Given the description of an element on the screen output the (x, y) to click on. 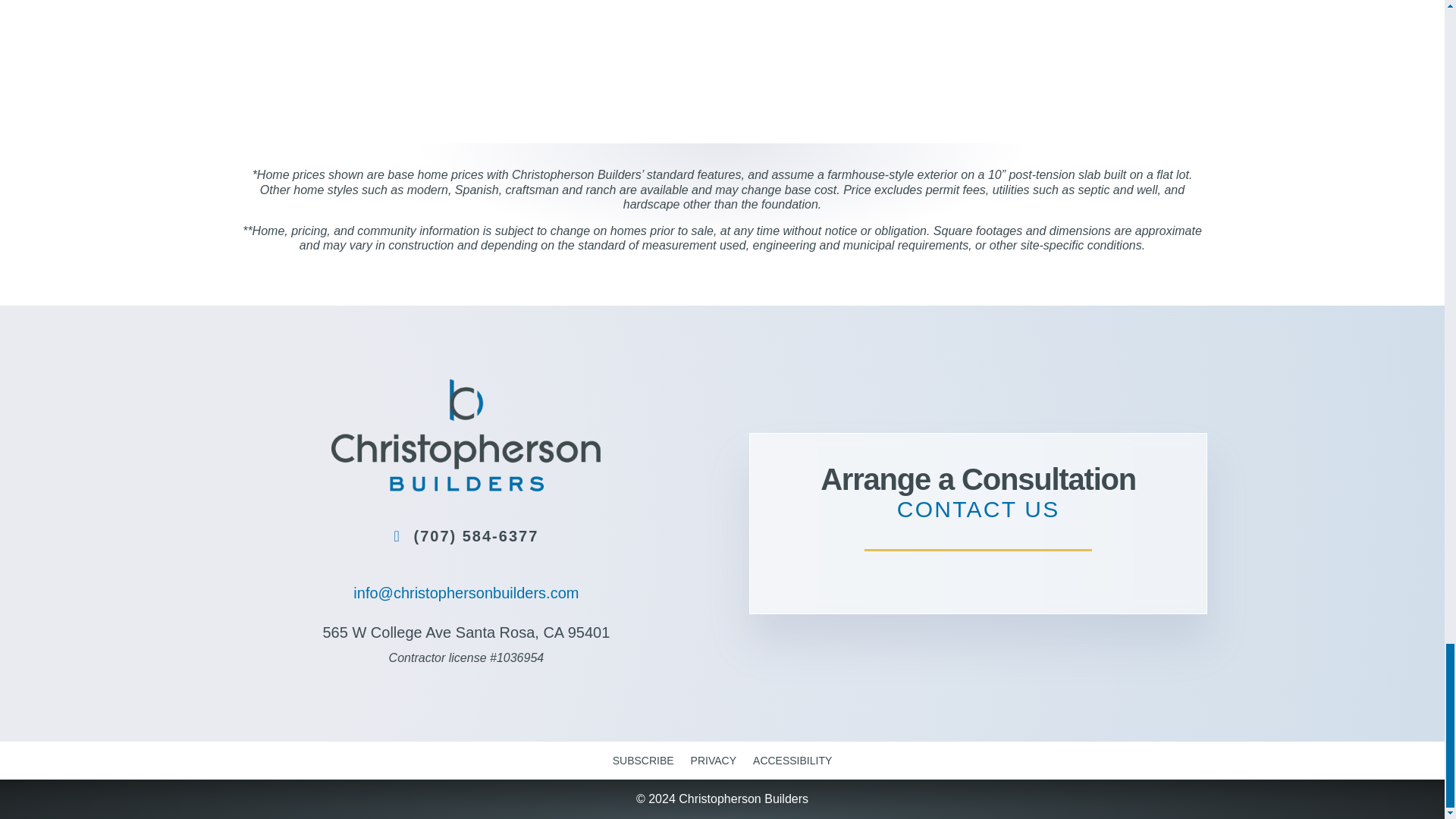
PRIVACY (713, 757)
SUBSCRIBE (643, 757)
ACCESSIBILITY (791, 757)
